Given the description of an element on the screen output the (x, y) to click on. 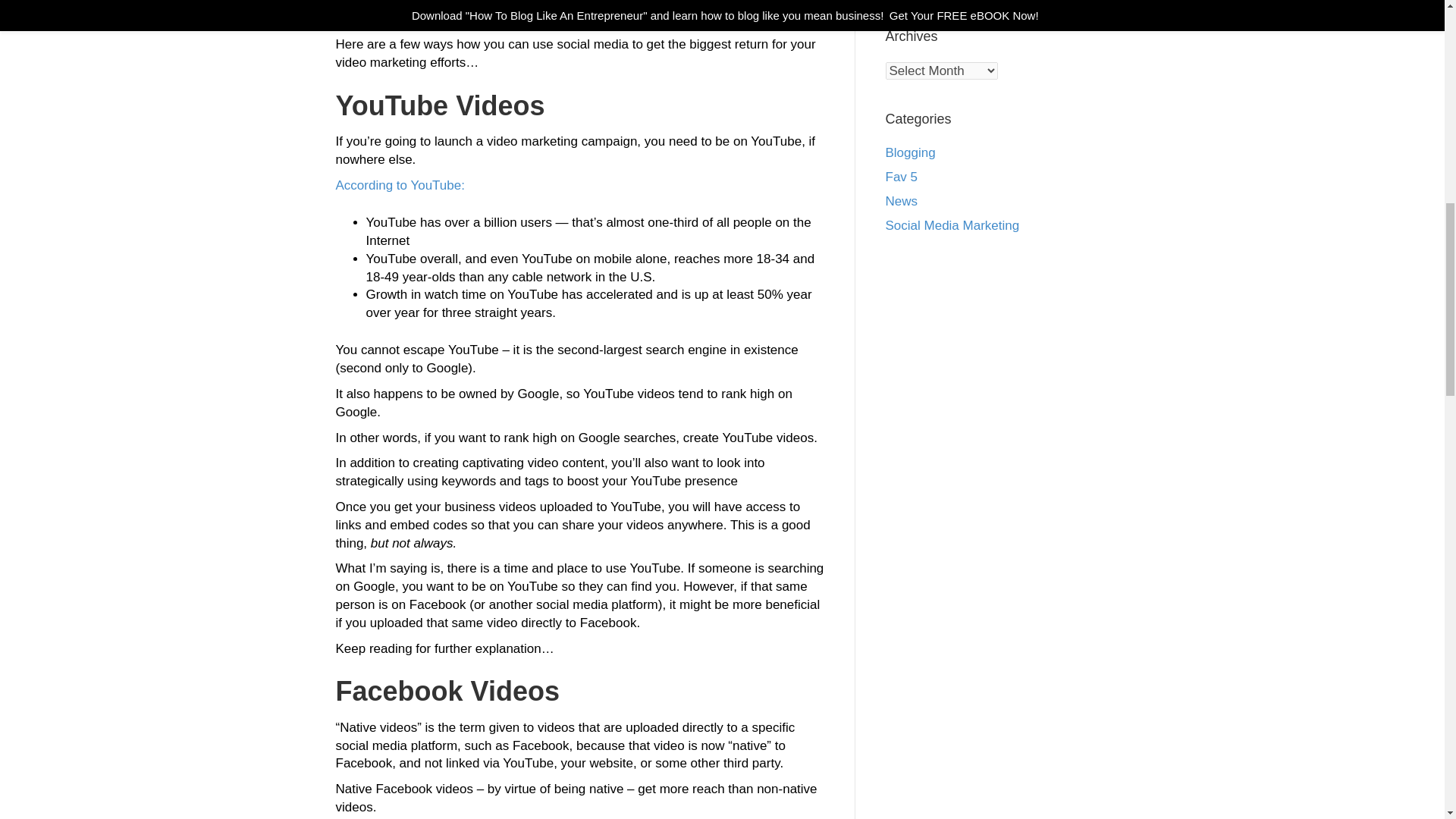
According to YouTube: (399, 185)
